Given the description of an element on the screen output the (x, y) to click on. 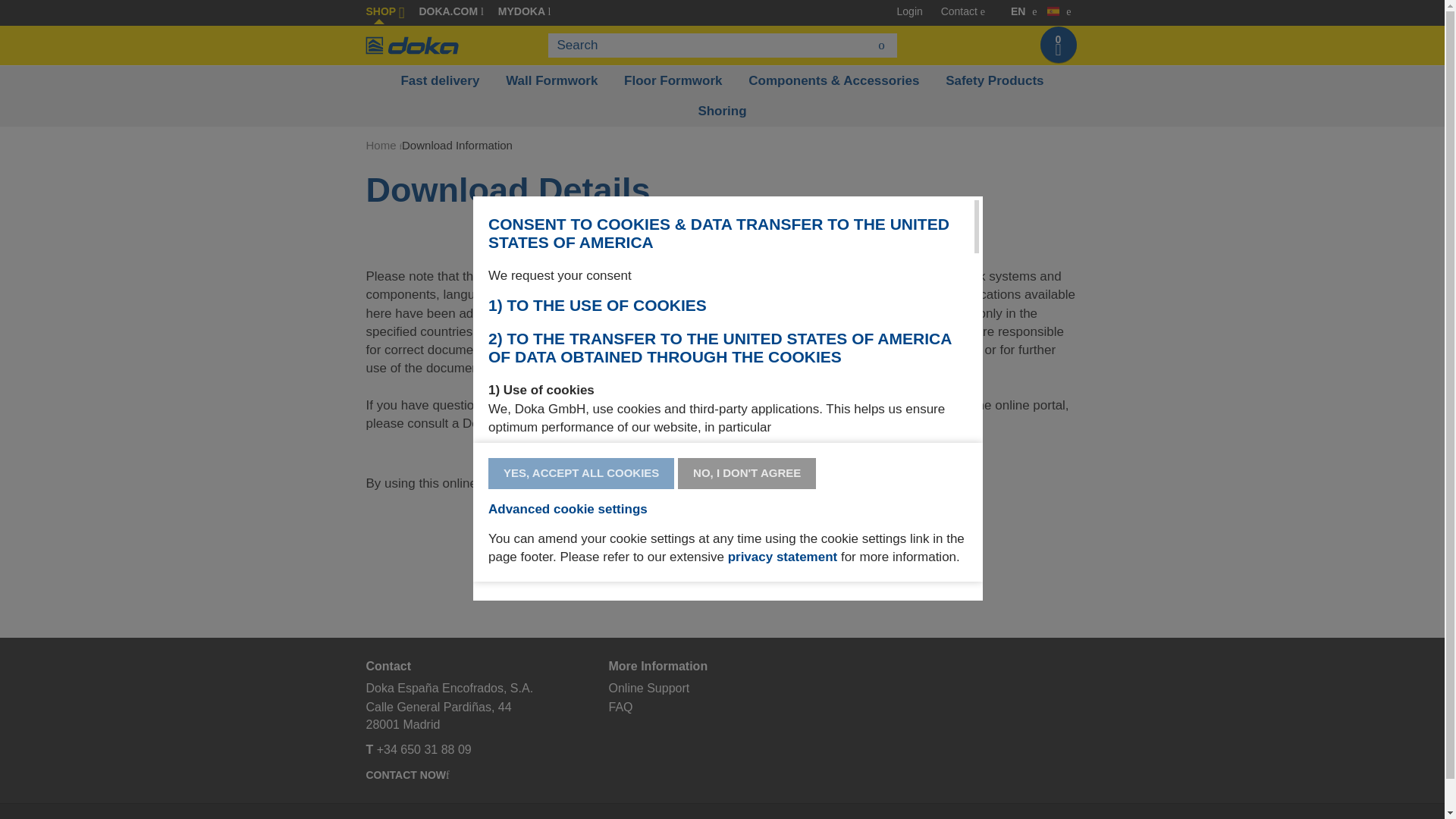
MYDOKA  (523, 10)
Login (909, 10)
Contact (958, 10)
No, I don't agree (746, 472)
DOKA.COM (451, 10)
SHOP (384, 10)
Yes, accept all cookies (580, 472)
Online Support (648, 687)
FAQ (619, 707)
